Given the description of an element on the screen output the (x, y) to click on. 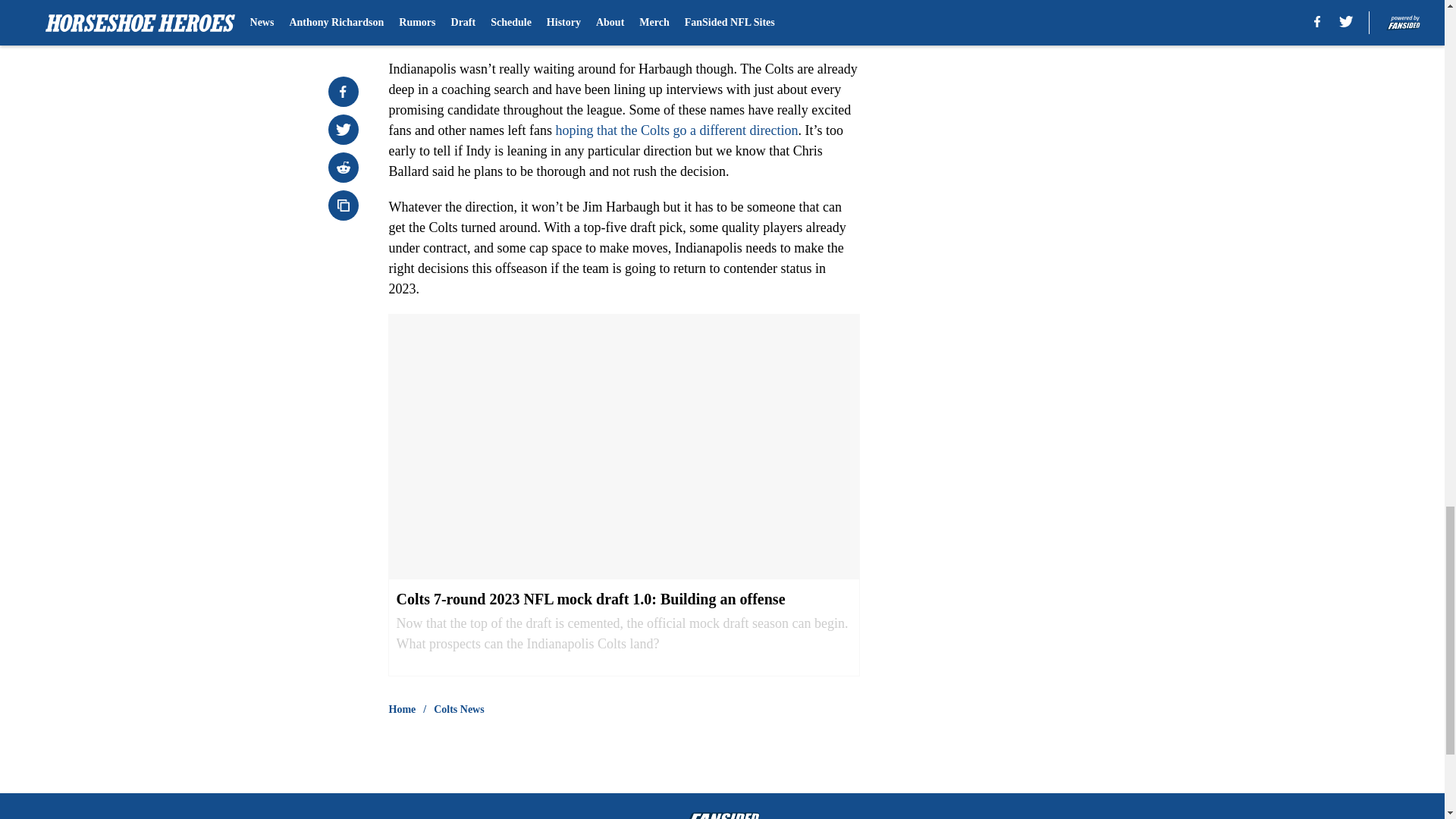
Home (401, 709)
hoping that the Colts go a different direction (675, 130)
Colts News (458, 709)
